Given the description of an element on the screen output the (x, y) to click on. 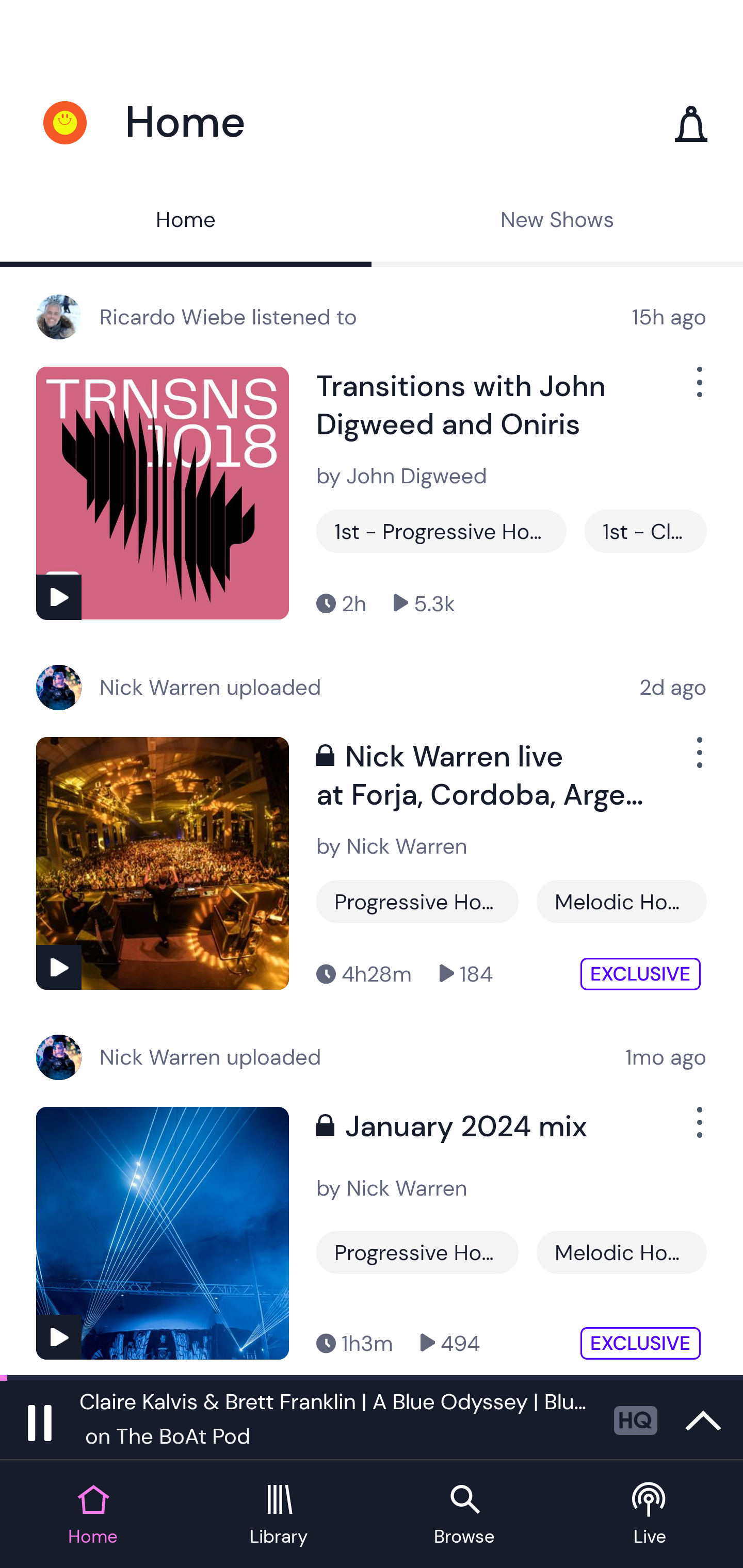
Home (185, 221)
New Shows (557, 221)
Show Options Menu Button (697, 389)
1st - Progressive House (441, 531)
1st - Club (645, 531)
Show Options Menu Button (697, 760)
Progressive House (417, 901)
Melodic House (621, 901)
Show Options Menu Button (697, 1130)
Progressive House (417, 1251)
Melodic House (621, 1251)
Home tab Home (92, 1515)
Library tab Library (278, 1515)
Browse tab Browse (464, 1515)
Live tab Live (650, 1515)
